Given the description of an element on the screen output the (x, y) to click on. 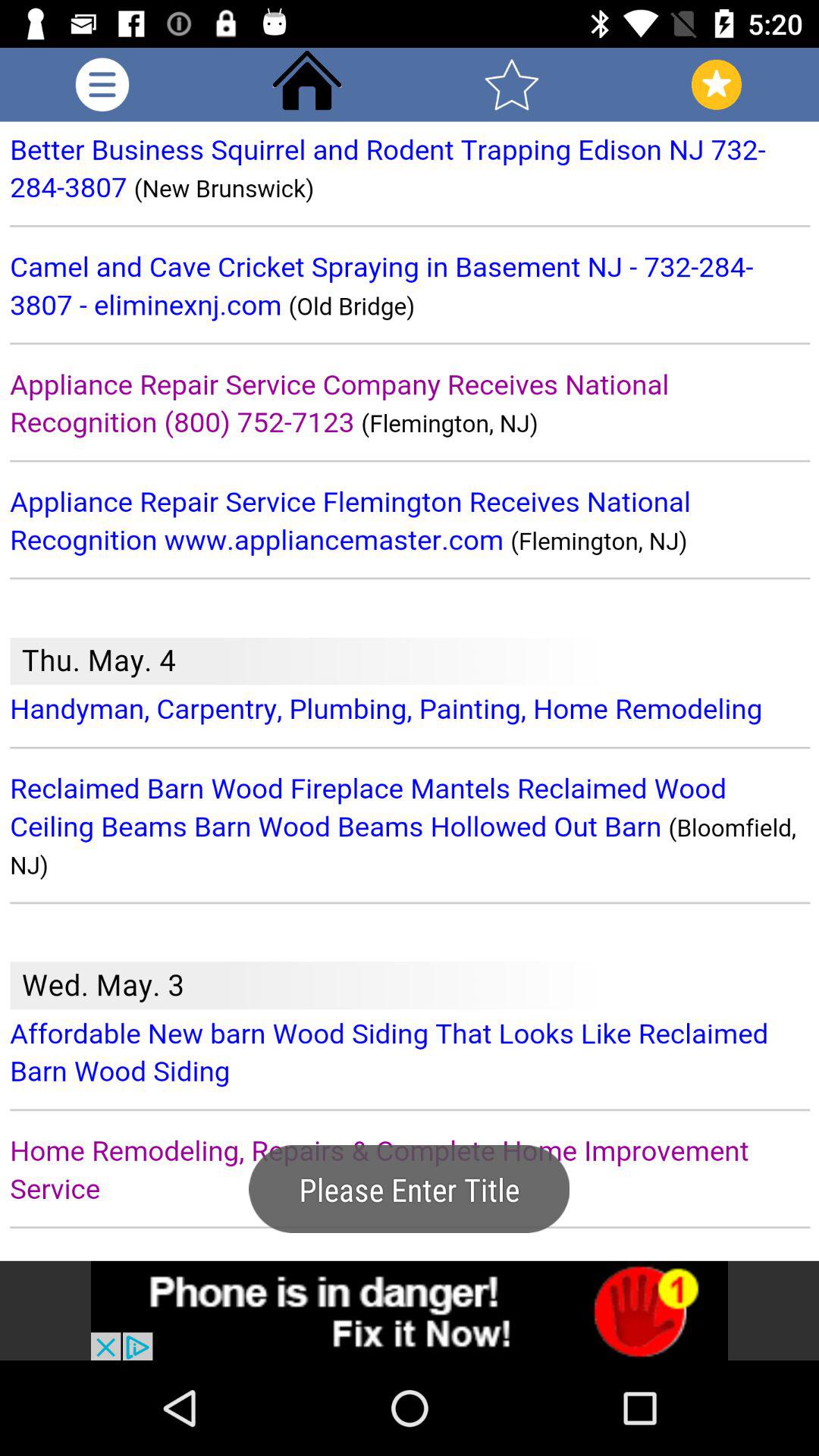
open menu (102, 84)
